Given the description of an element on the screen output the (x, y) to click on. 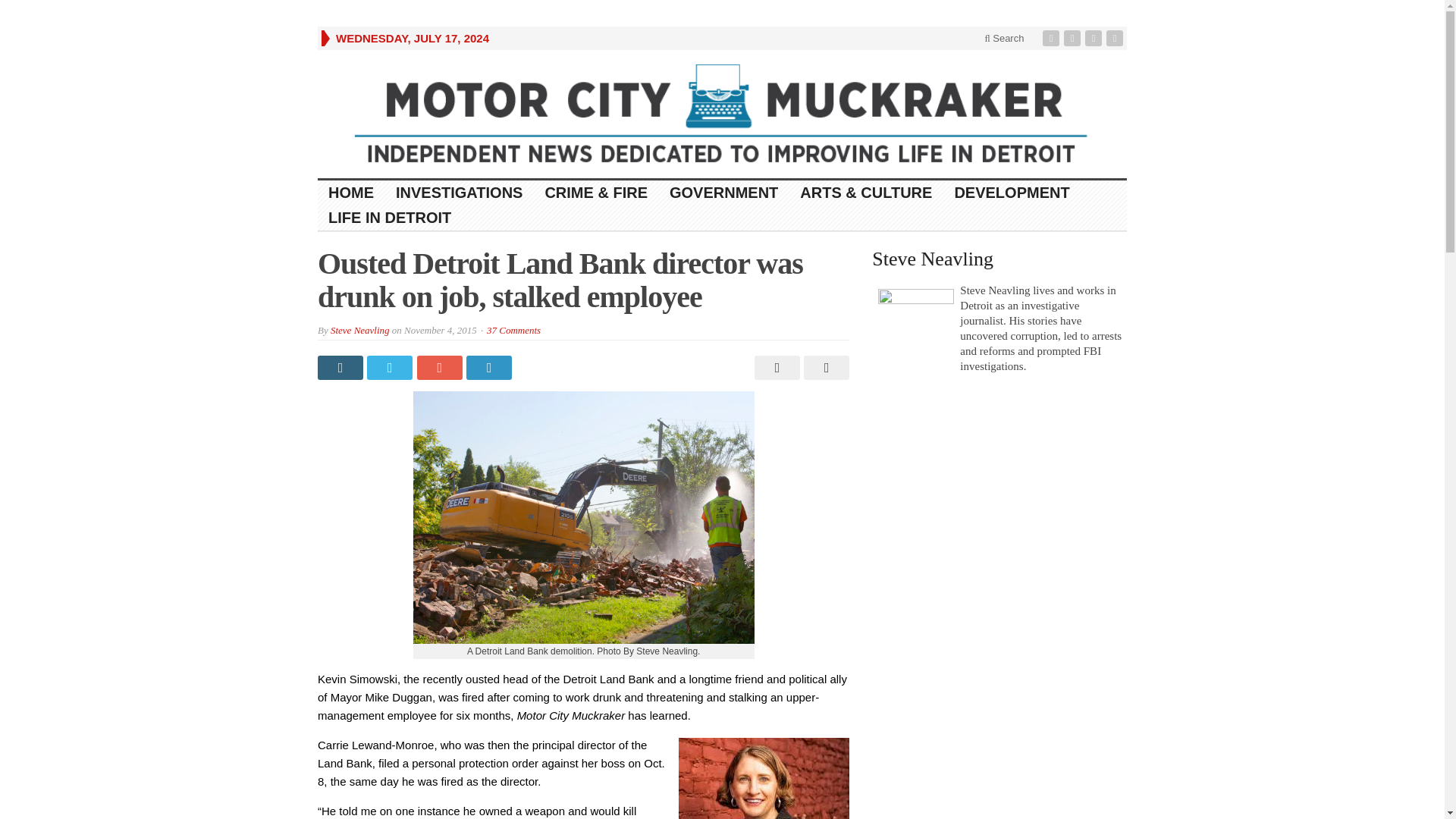
Share on LinkedIn (490, 367)
Share on Facebook (341, 367)
Search (1003, 37)
HOME (351, 192)
37 Comments (513, 329)
LIFE IN DETROIT (390, 217)
Facebook (1052, 37)
INVESTIGATIONS (459, 192)
Print This Post (775, 367)
Share on Twitter (391, 367)
DEVELOPMENT (1011, 192)
Steve Neavling (360, 329)
Twitter (1073, 37)
GOVERNMENT (724, 192)
